Given the description of an element on the screen output the (x, y) to click on. 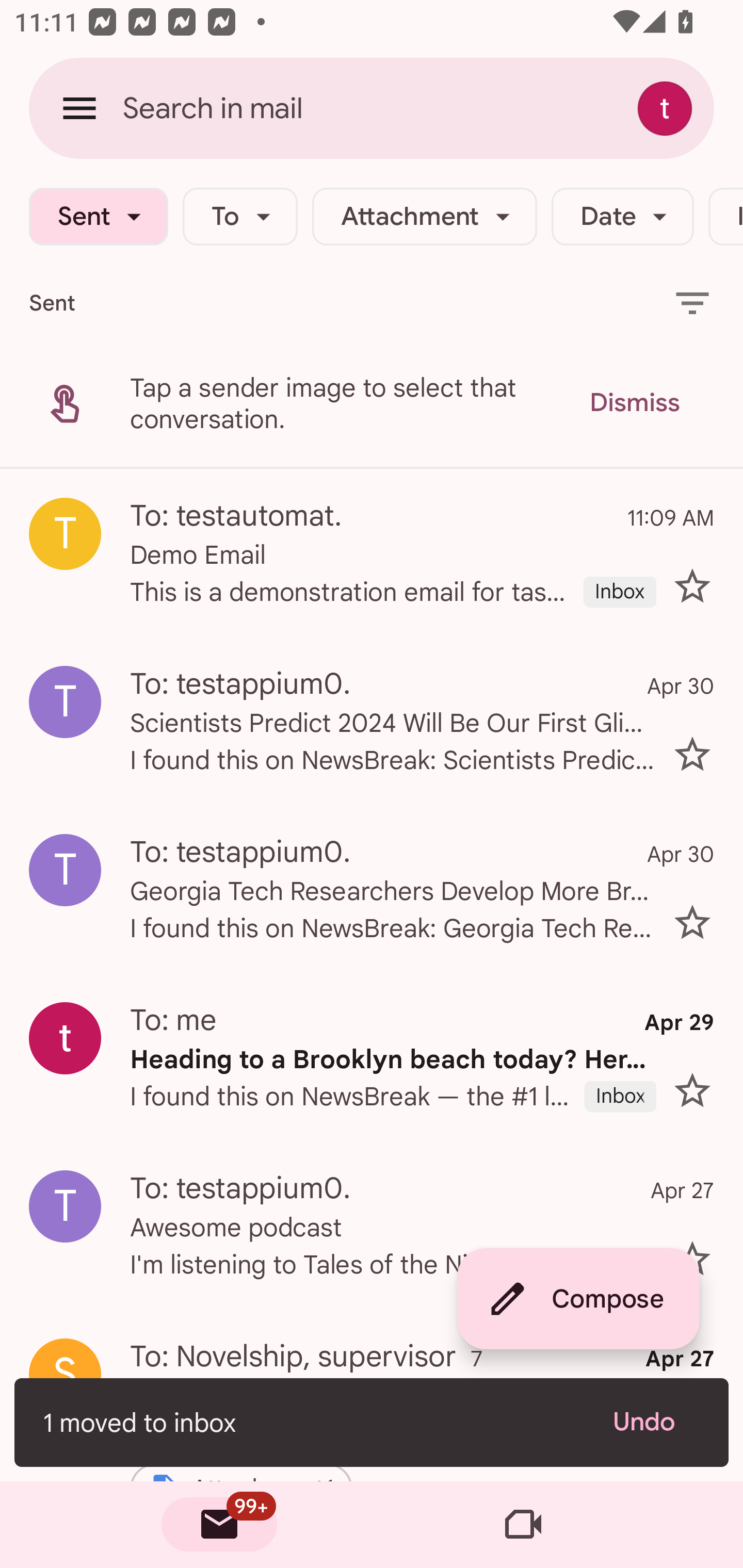
Open navigation drawer (79, 108)
Sent (97, 217)
To (239, 217)
Attachment (424, 217)
Date (622, 217)
Filter icon (692, 302)
Dismiss Dismiss tip (634, 403)
Compose (577, 1299)
Undo (655, 1422)
Meet (523, 1524)
